Given the description of an element on the screen output the (x, y) to click on. 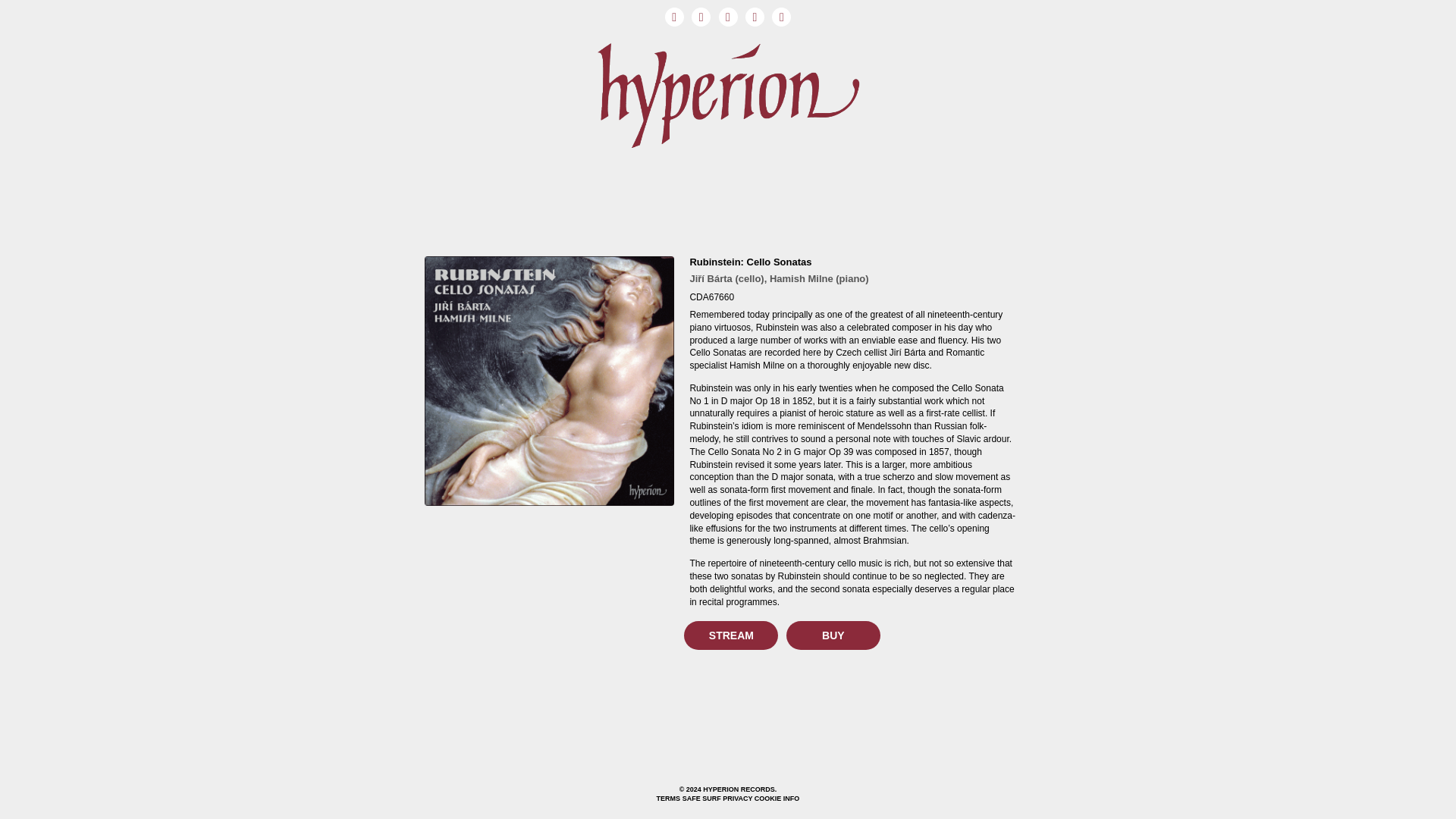
BUY (833, 635)
TERMS (668, 798)
Rubinstein: Cello Sonatas (749, 261)
COOKIE INFO (776, 798)
STREAM (730, 635)
PRIVACY (737, 798)
SAFE SURF (701, 798)
